Given the description of an element on the screen output the (x, y) to click on. 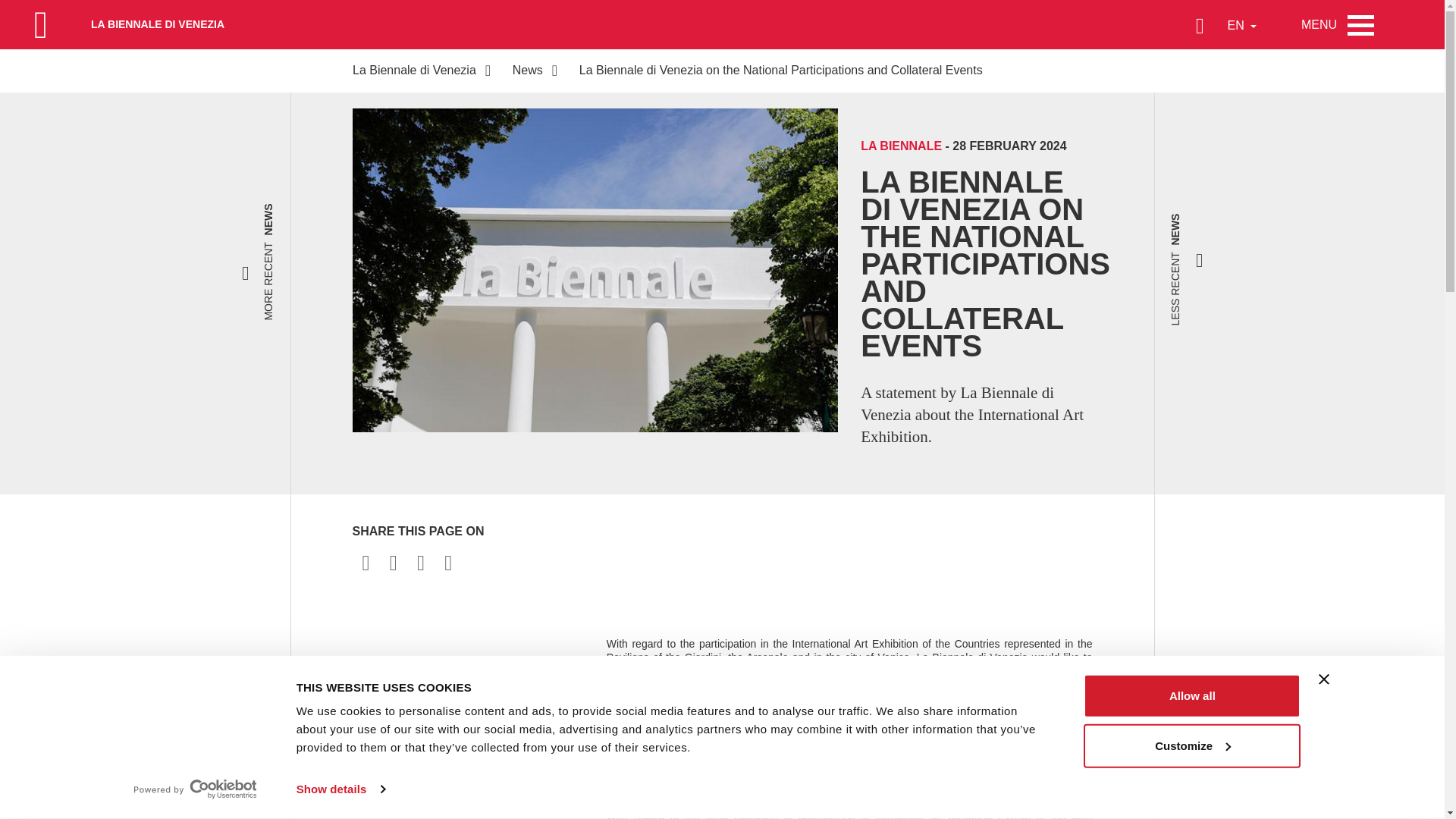
Share on Facebook (365, 563)
Show details (340, 789)
Share on LinkedIN (420, 563)
Customize (1191, 745)
Allow all (1191, 696)
Share on X (393, 563)
Send via WhatsApp (448, 563)
